Given the description of an element on the screen output the (x, y) to click on. 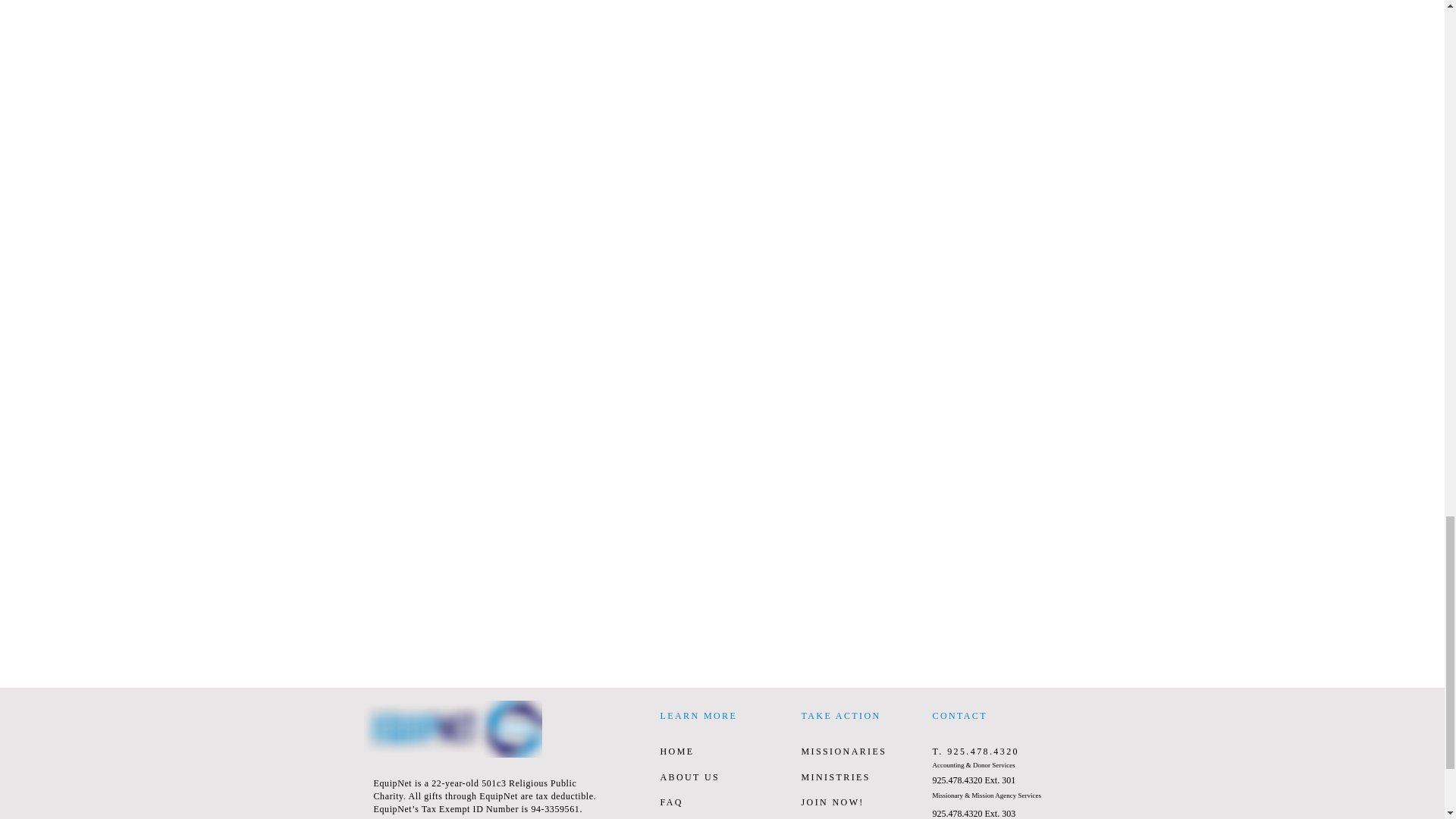
ABOUT US (689, 777)
HOME (676, 751)
JOIN NOW! (831, 801)
FAQ (670, 801)
MINISTRIES (834, 777)
MISSIONARIES (843, 751)
